Given the description of an element on the screen output the (x, y) to click on. 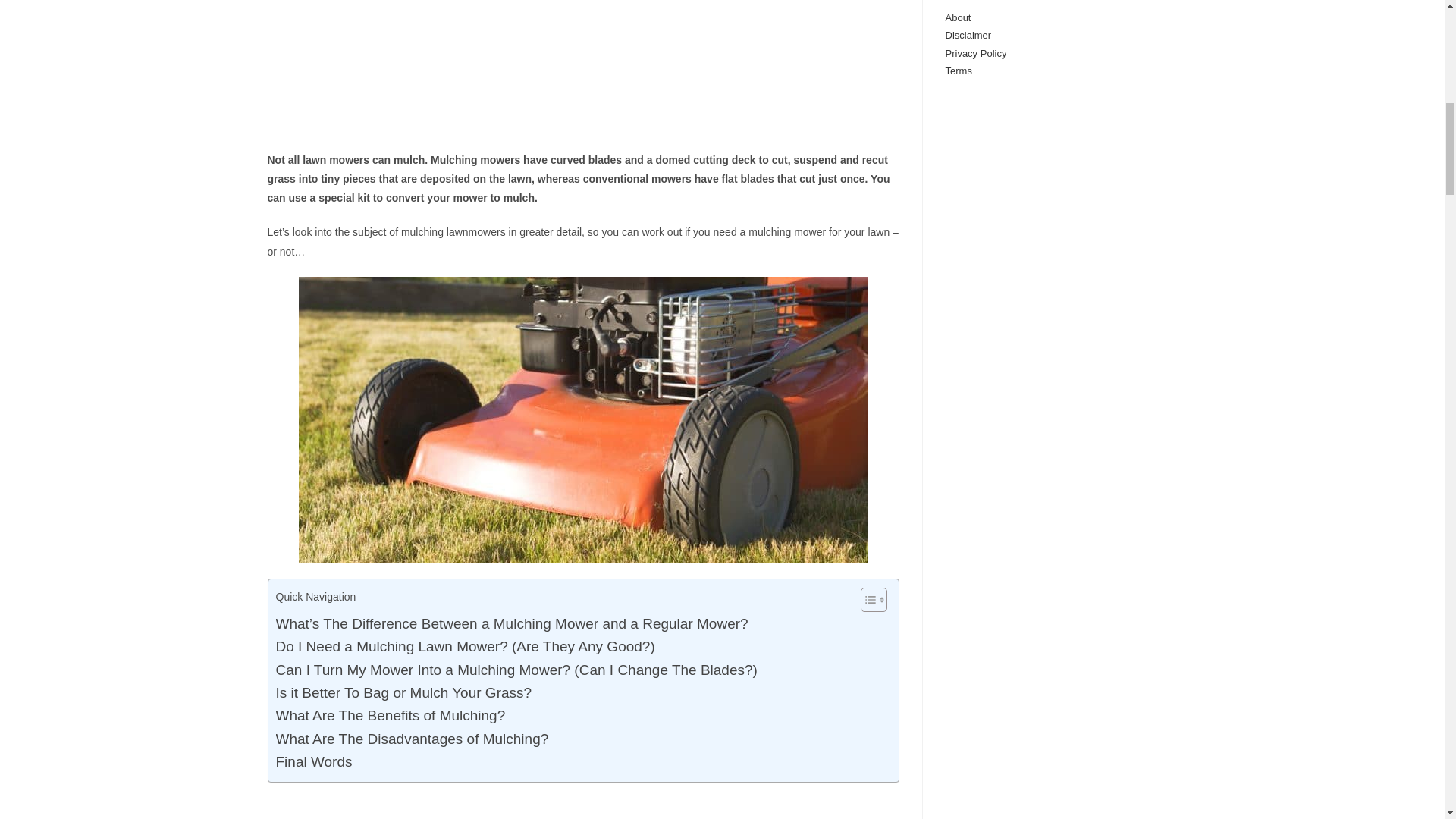
Is it Better To Bag or Mulch Your Grass? (404, 692)
What Are The Benefits of Mulching? (390, 715)
What Are The Disadvantages of Mulching? (412, 739)
What Are The Disadvantages of Mulching? (412, 739)
Final Words (314, 762)
Is it Better To Bag or Mulch Your Grass? (404, 692)
What Are The Benefits of Mulching? (390, 715)
Final Words (314, 762)
